Given the description of an element on the screen output the (x, y) to click on. 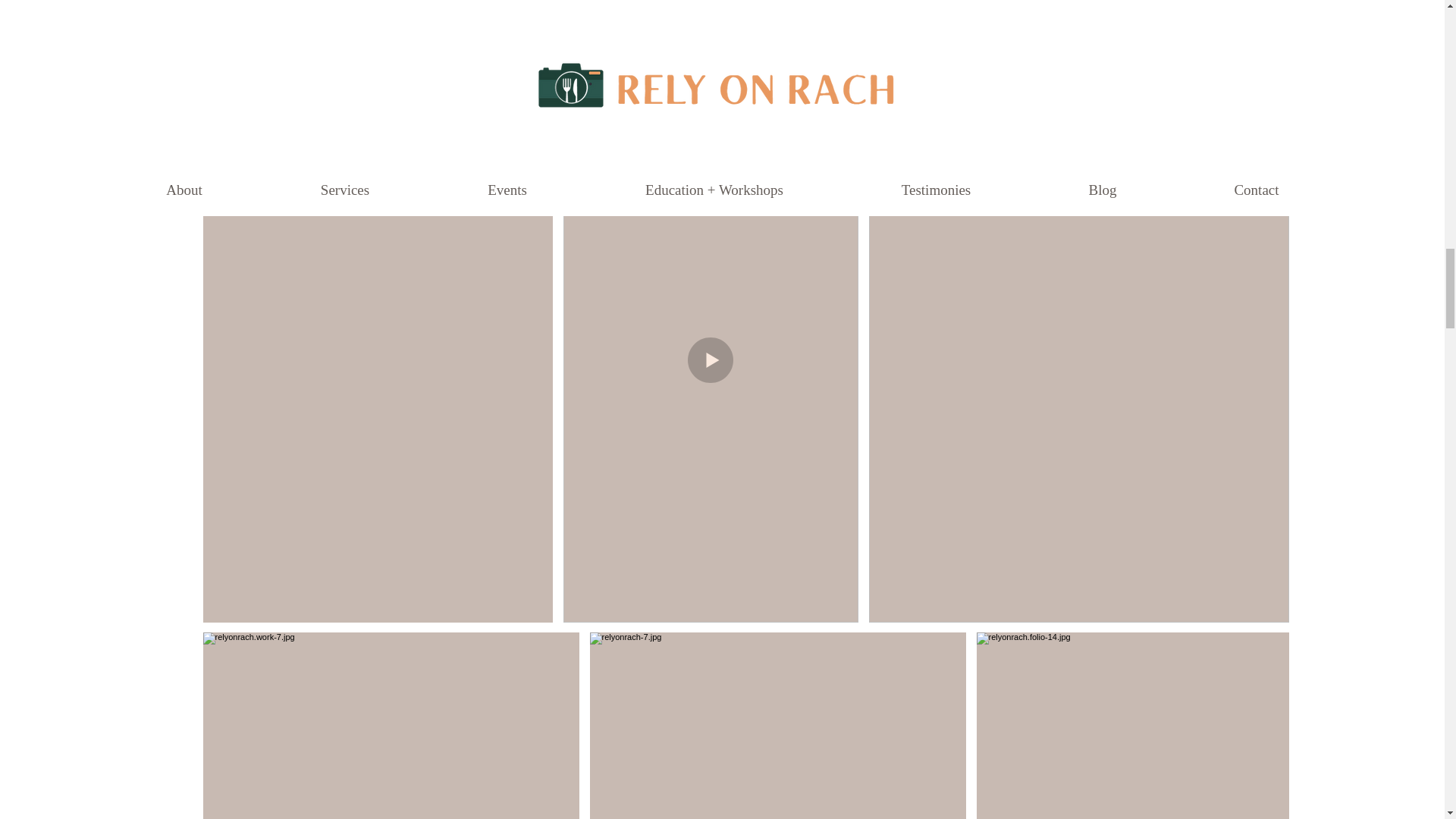
schedule your free clarity call (857, 15)
